Given the description of an element on the screen output the (x, y) to click on. 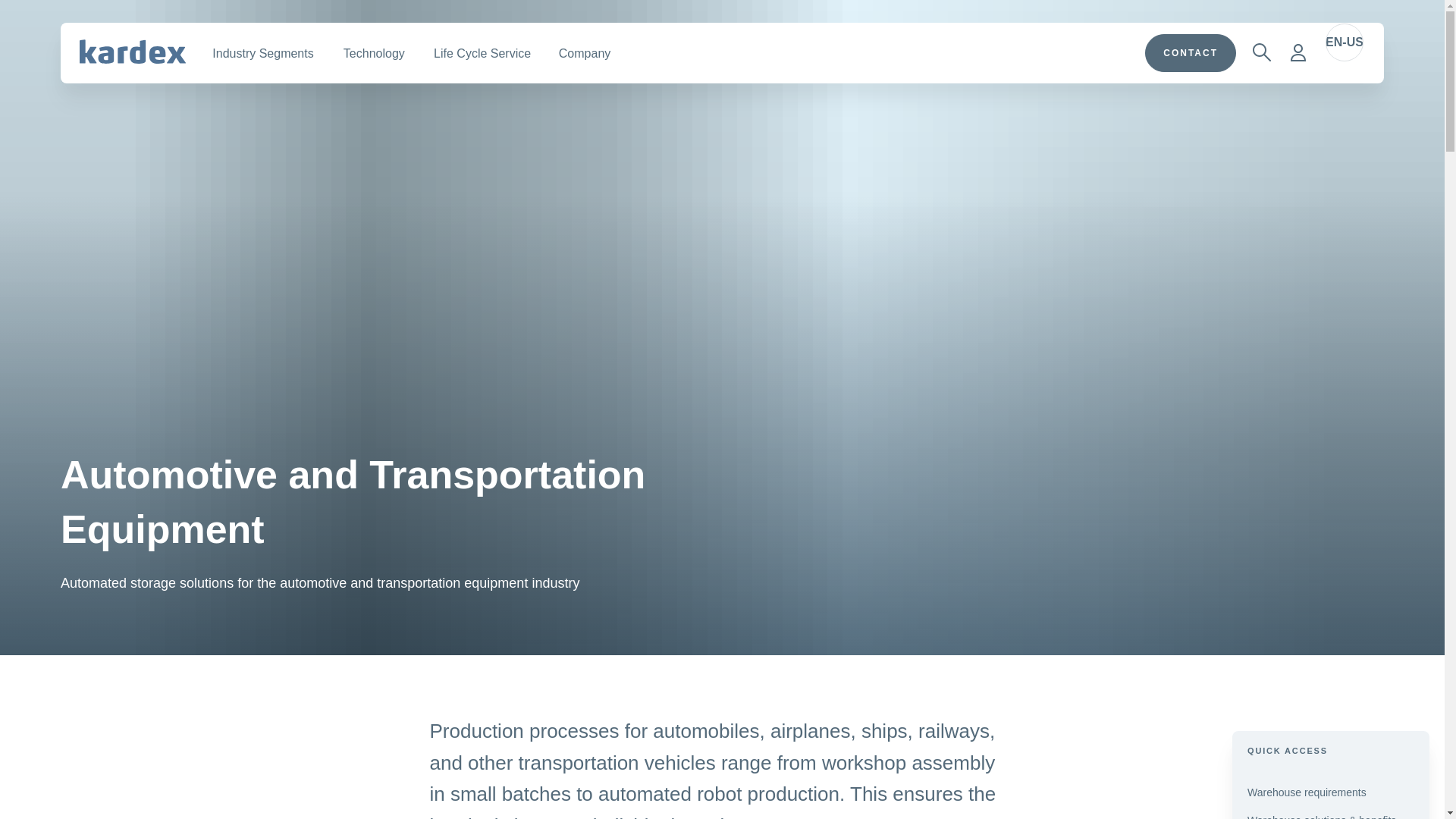
Kardex, to Homepage (133, 51)
Industry Segments (262, 52)
Company (585, 52)
Search (1261, 52)
Login (1297, 52)
EN-US (1343, 42)
Life Cycle Service (482, 52)
Technology (374, 52)
CONTACT (1190, 53)
